Given the description of an element on the screen output the (x, y) to click on. 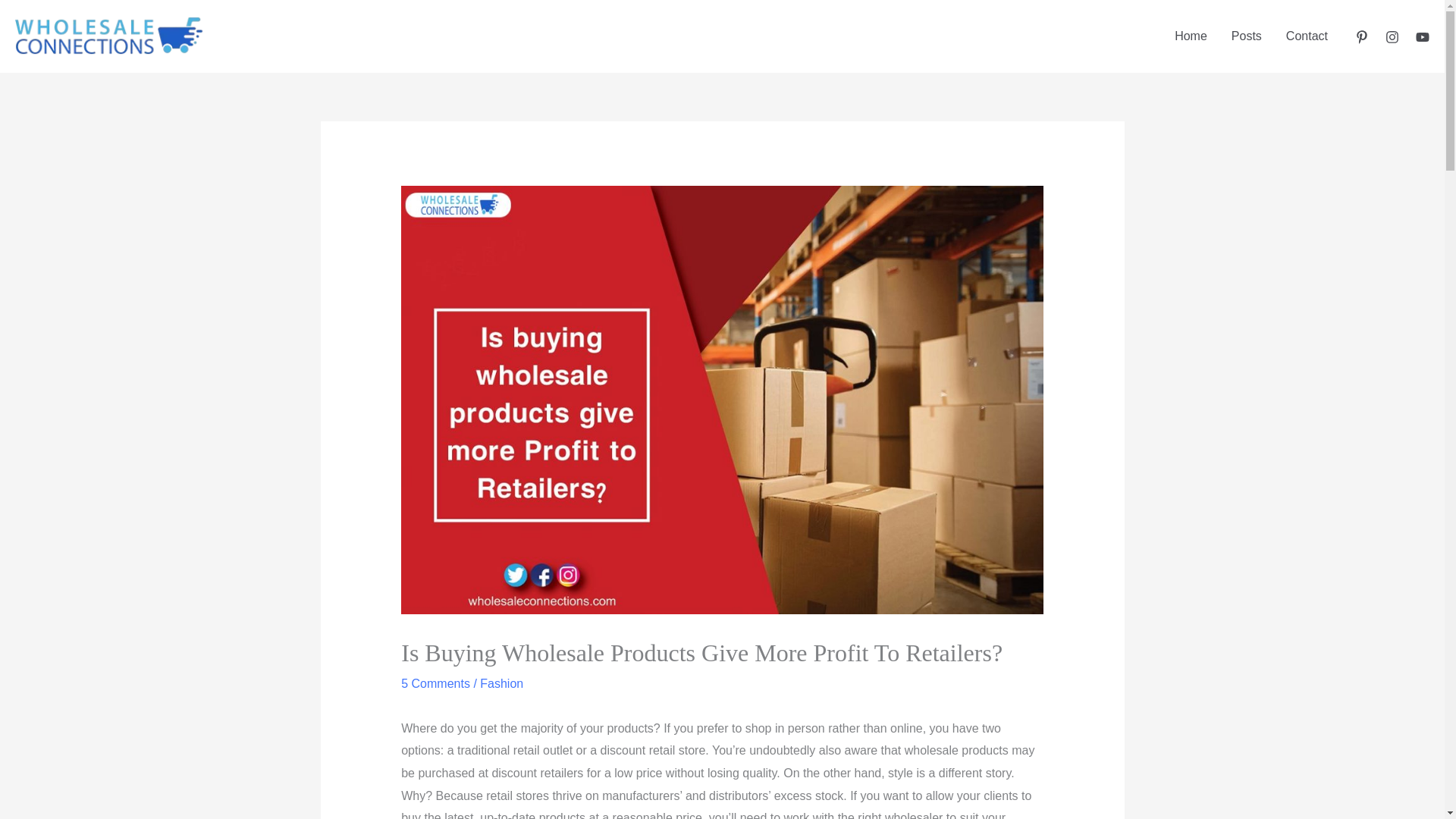
5 Comments (435, 683)
Home (1190, 36)
Posts (1247, 36)
Contact (1306, 36)
Fashion (501, 683)
